Given the description of an element on the screen output the (x, y) to click on. 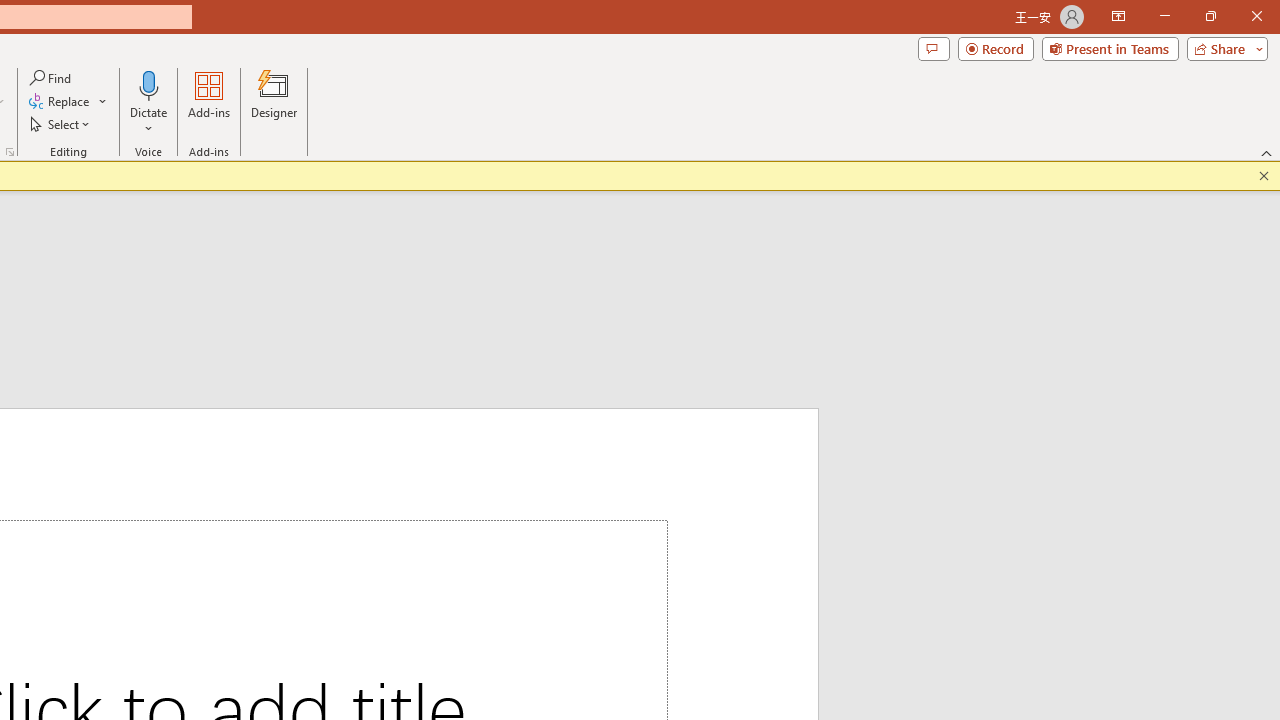
Close this message (1263, 176)
